Given the description of an element on the screen output the (x, y) to click on. 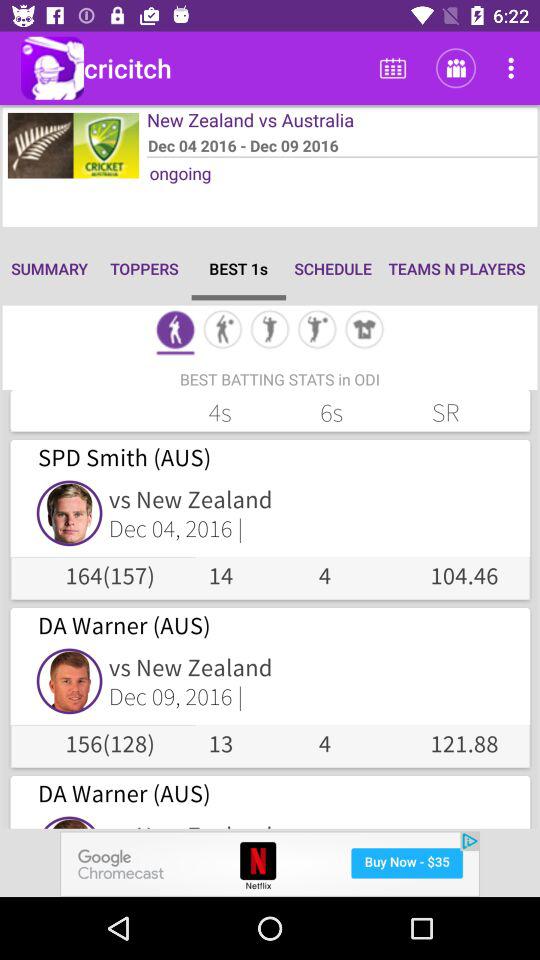
batting schedule (175, 331)
